Given the description of an element on the screen output the (x, y) to click on. 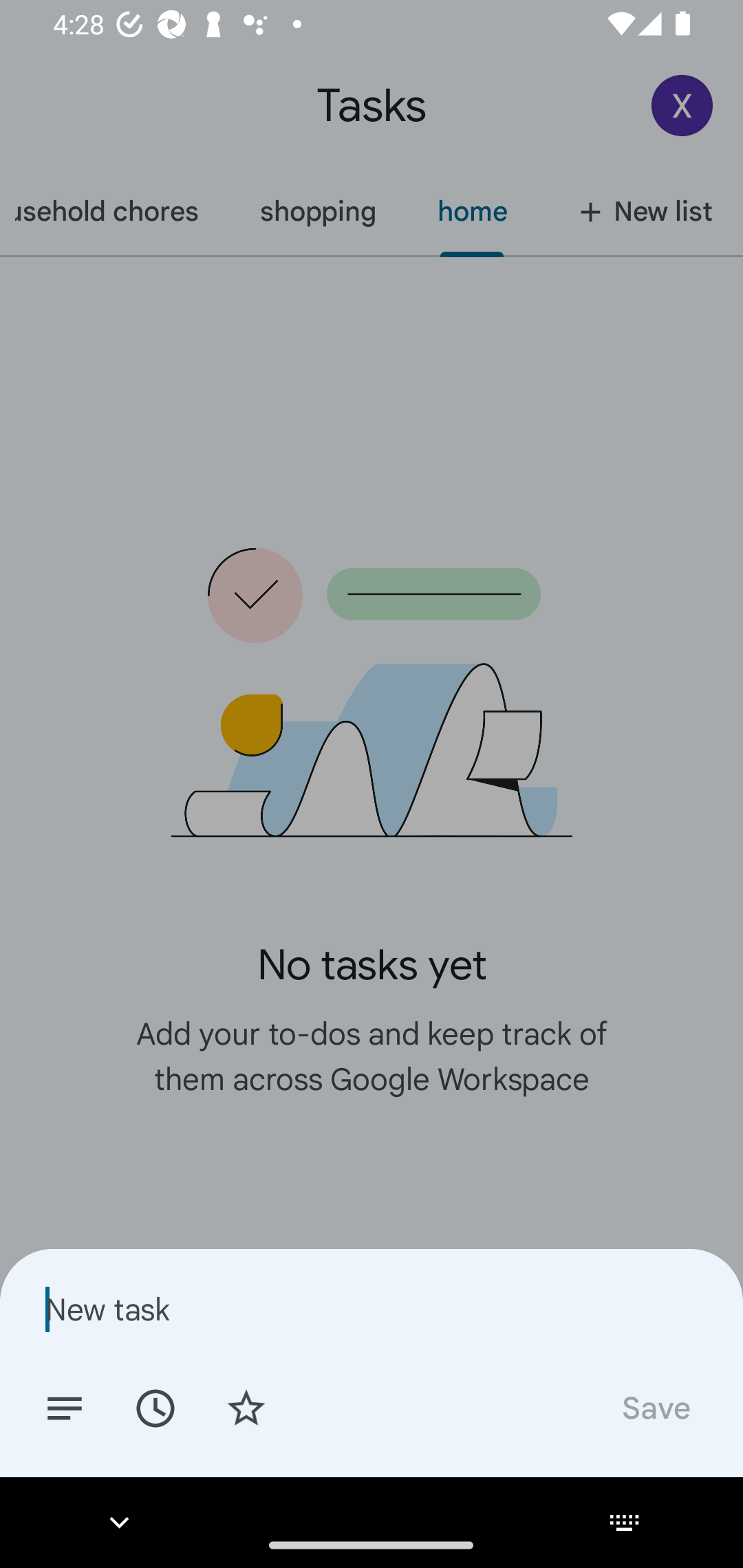
New task (371, 1308)
Save (655, 1407)
Add details (64, 1407)
Set date/time (154, 1407)
Add star (245, 1407)
